Given the description of an element on the screen output the (x, y) to click on. 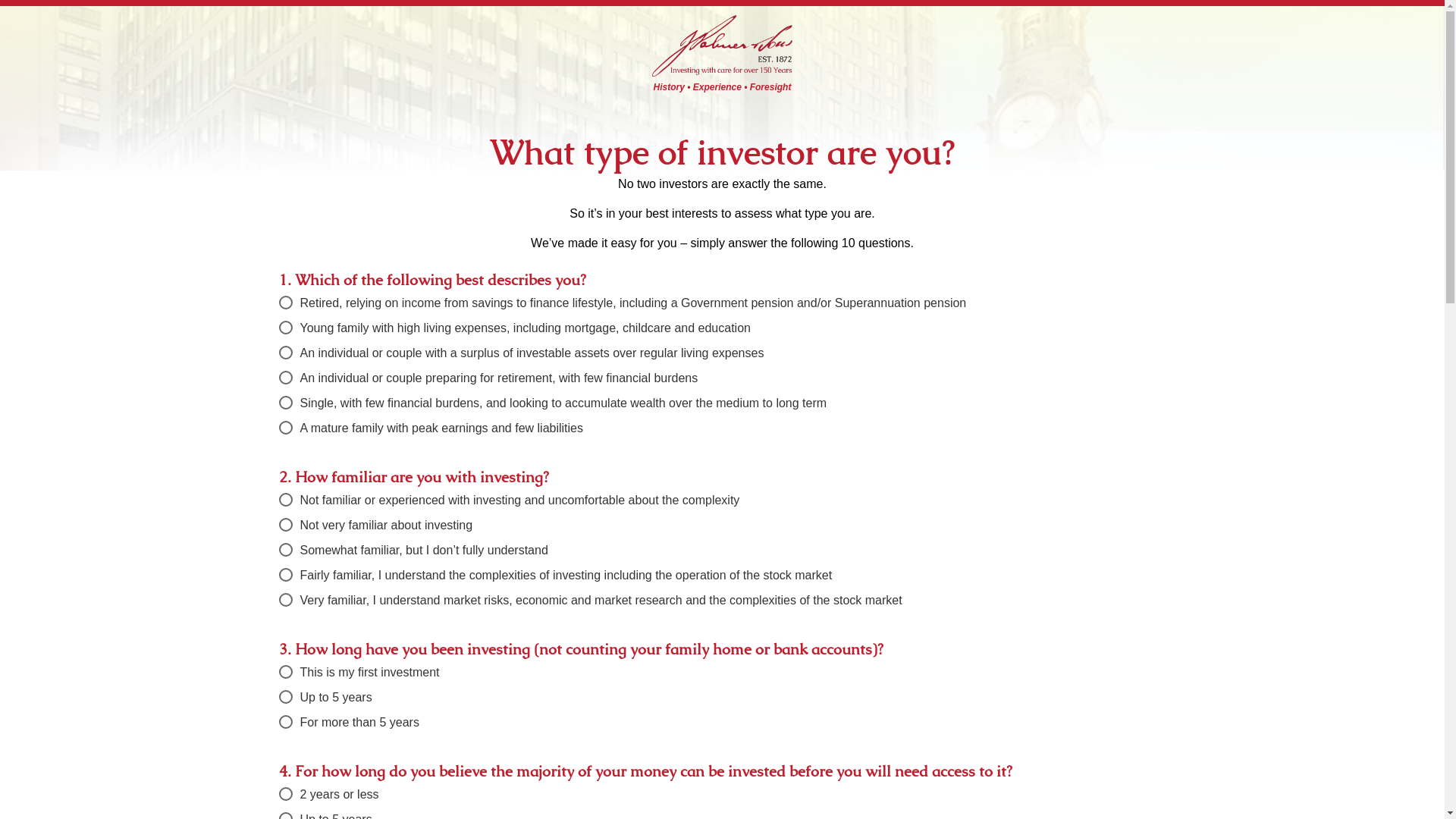
Joseph Palmer and Sons Element type: hover (722, 43)
